Given the description of an element on the screen output the (x, y) to click on. 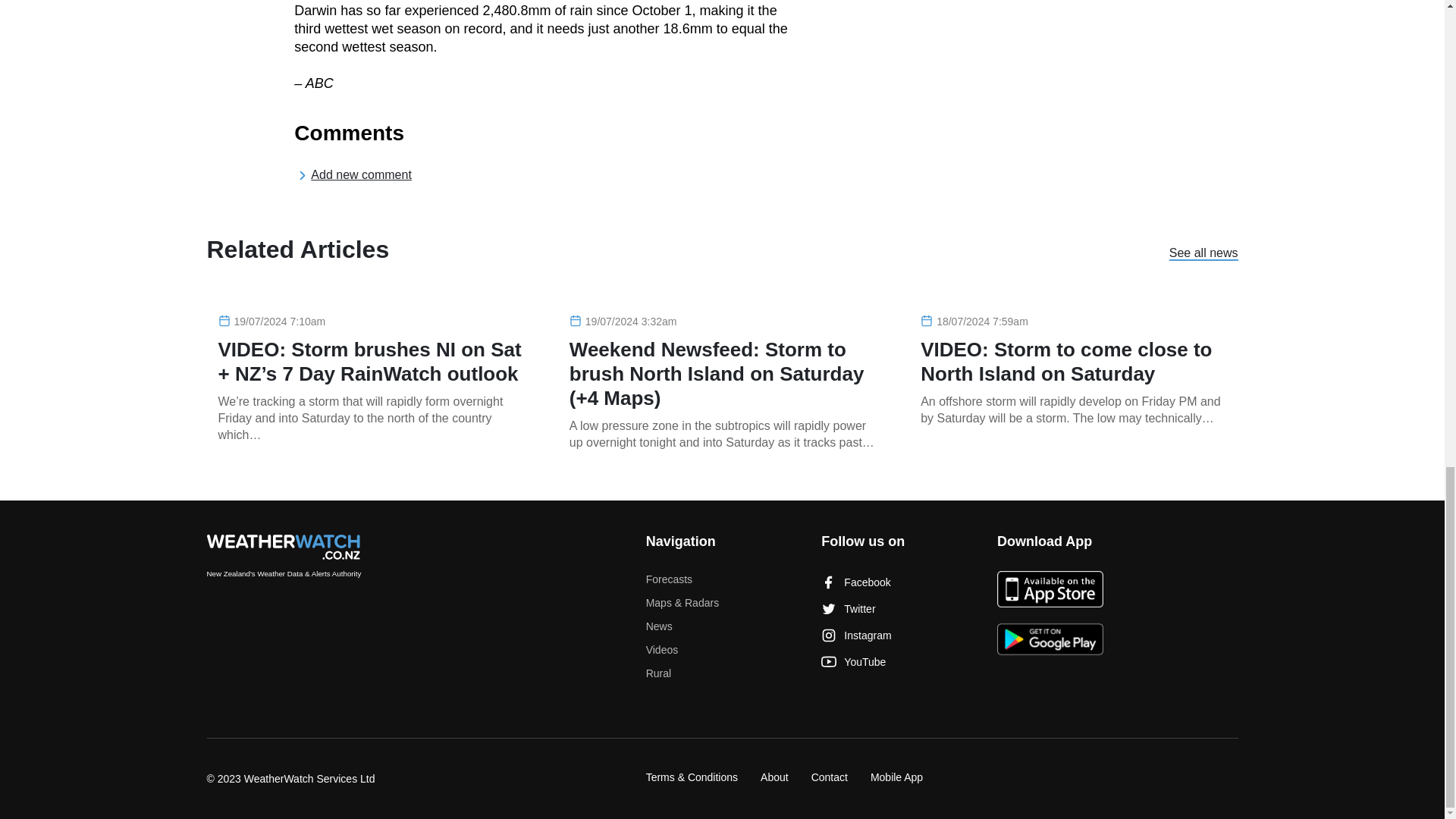
3rd party ad content (985, 15)
